Given the description of an element on the screen output the (x, y) to click on. 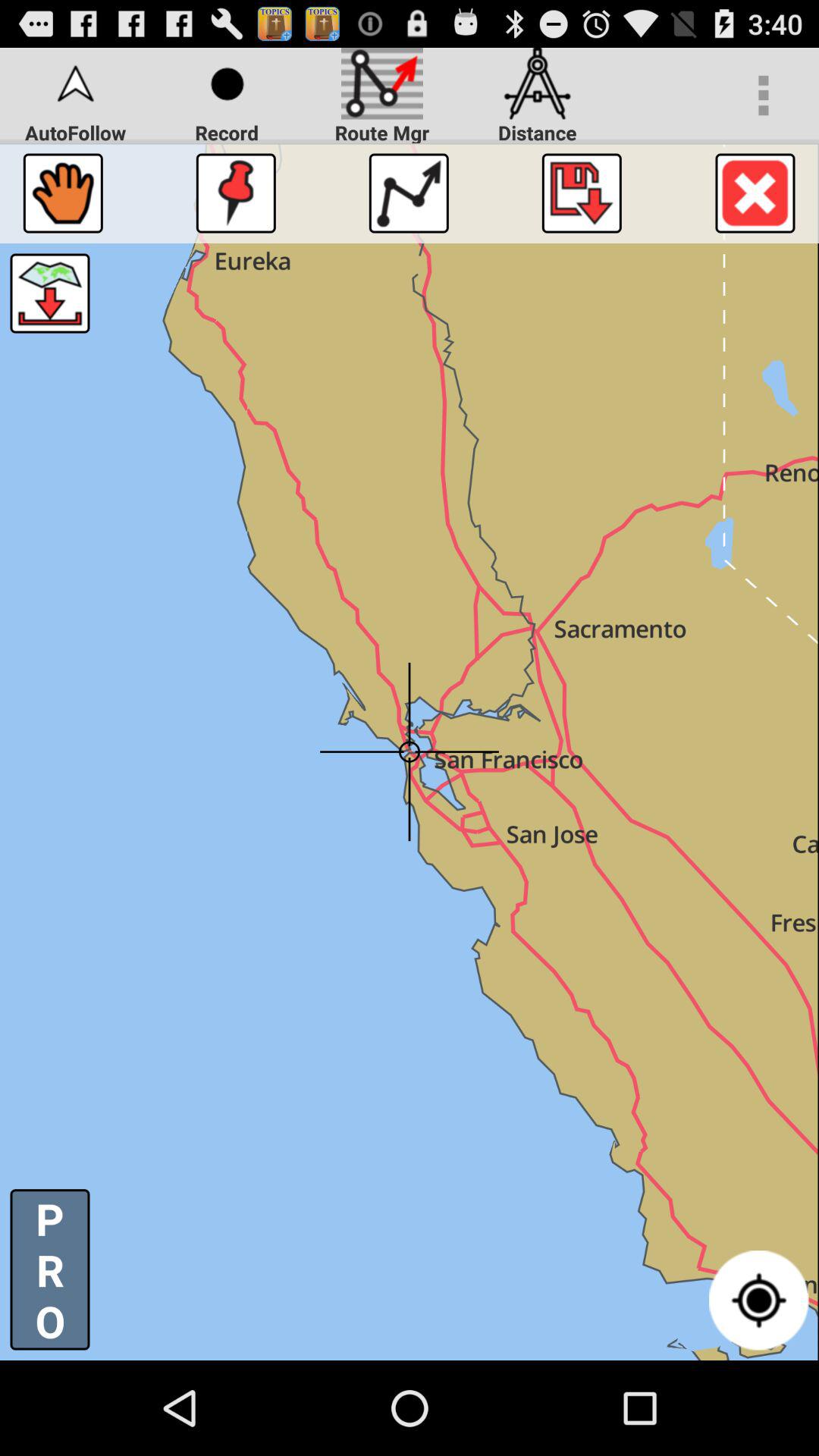
route (408, 193)
